Given the description of an element on the screen output the (x, y) to click on. 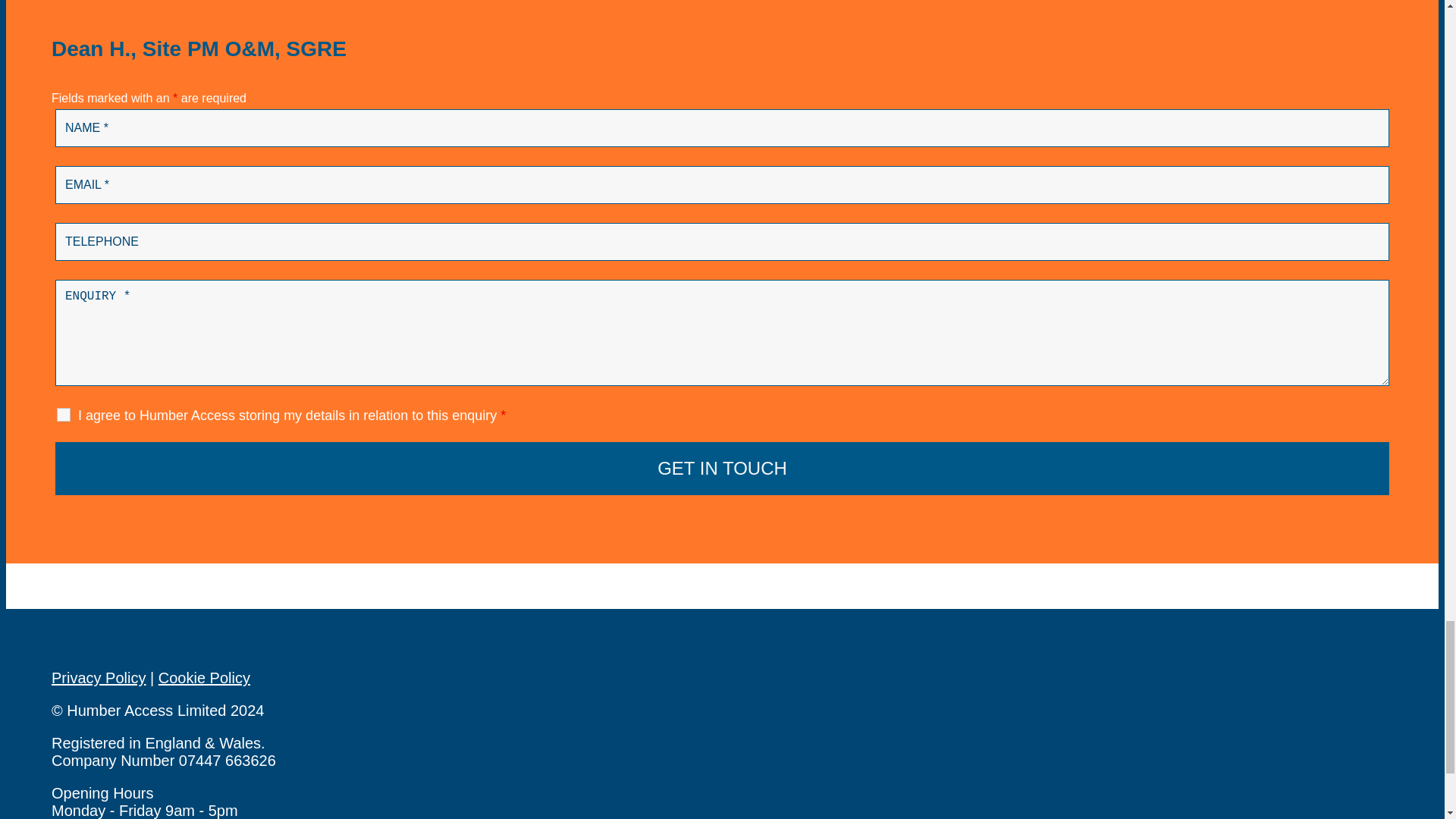
Privacy Policy (97, 677)
Get in touch (722, 468)
Get in touch (722, 468)
Cookie Policy (204, 677)
Privacy Policy (97, 677)
Cookie Policy (204, 677)
